Given the description of an element on the screen output the (x, y) to click on. 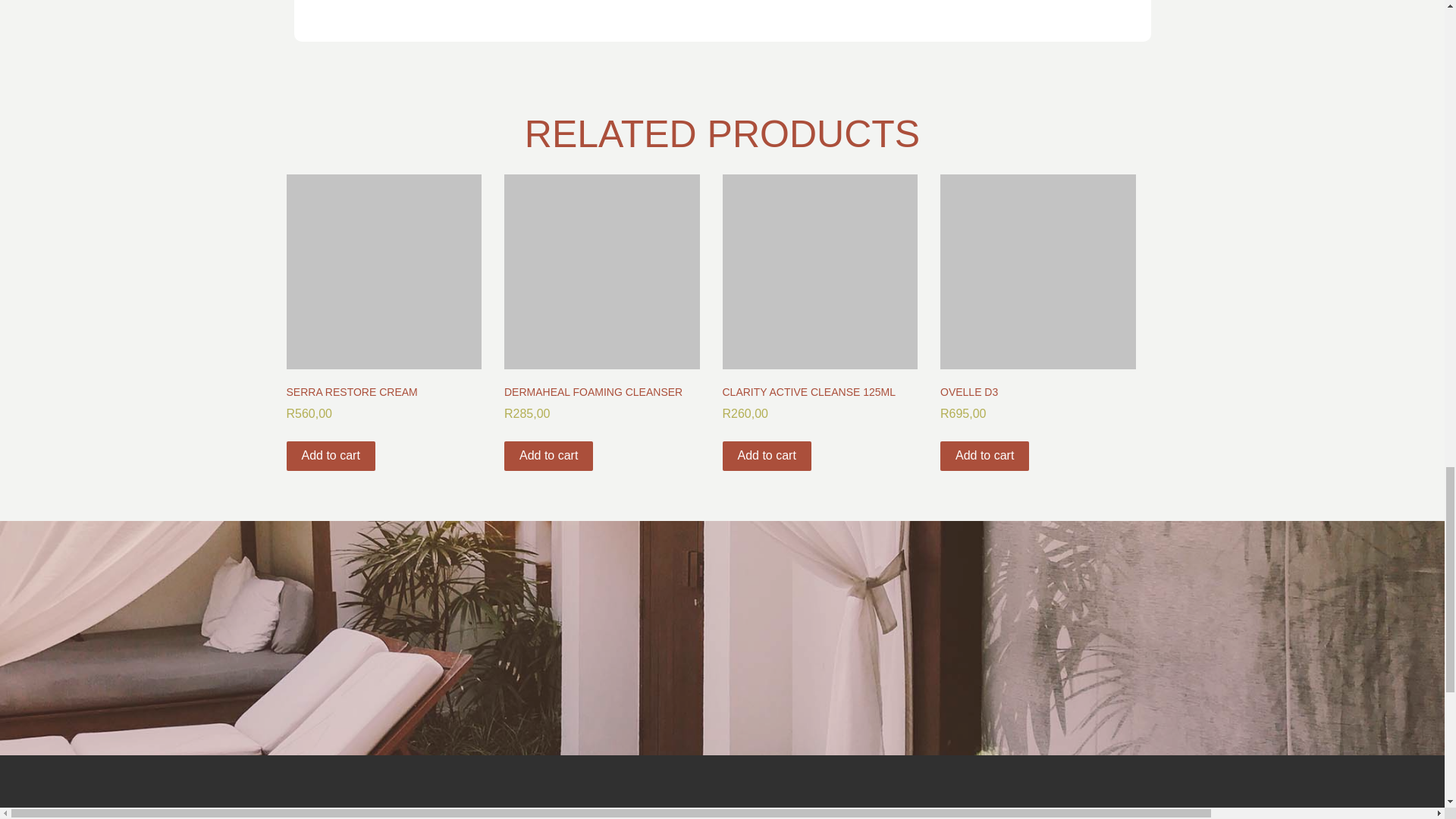
Add to cart (547, 455)
Add to cart (766, 455)
Add to cart (330, 455)
